Given the description of an element on the screen output the (x, y) to click on. 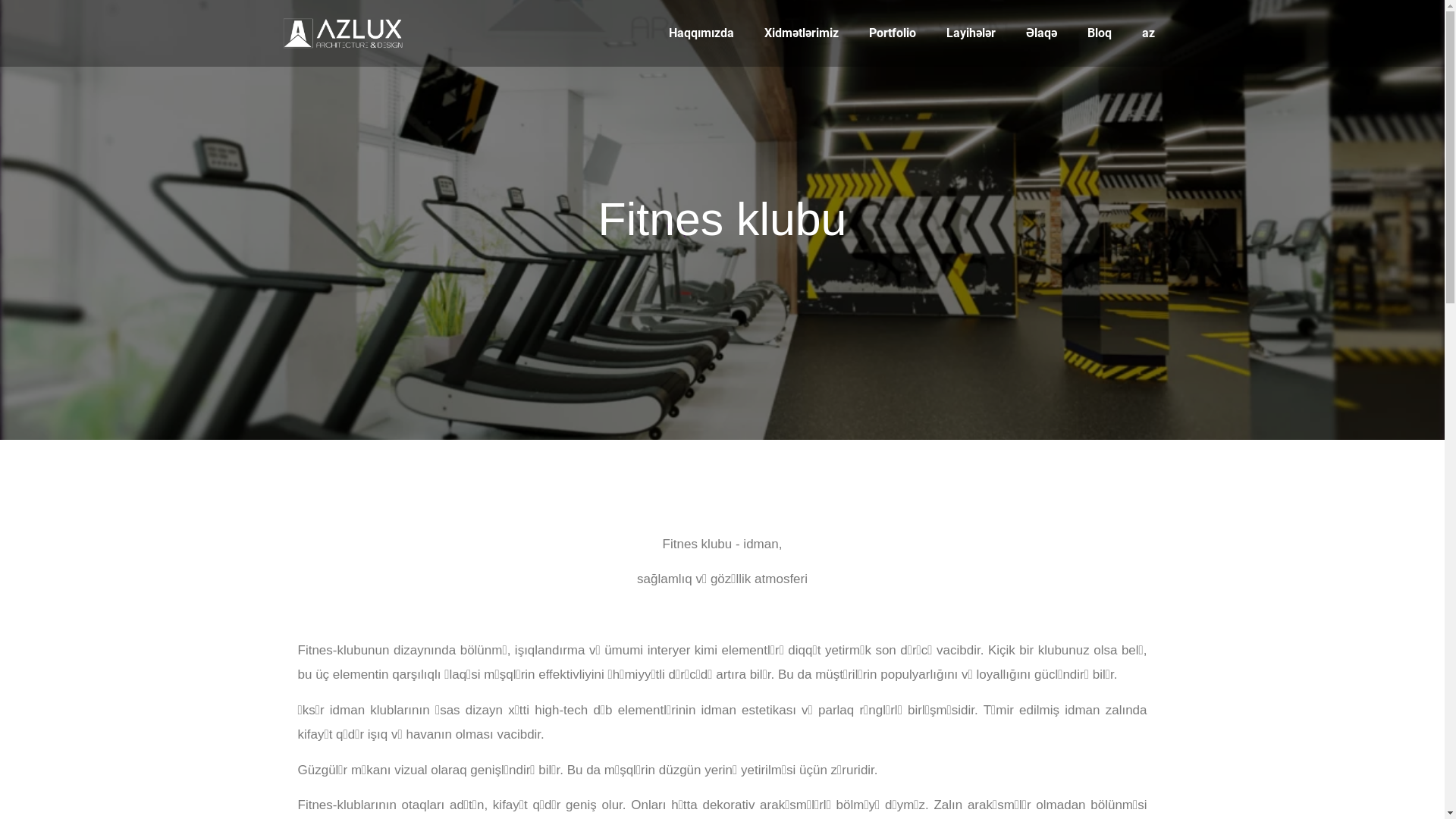
Bloq Element type: text (1099, 32)
Portfolio Element type: text (892, 32)
az Element type: text (1148, 32)
